Given the description of an element on the screen output the (x, y) to click on. 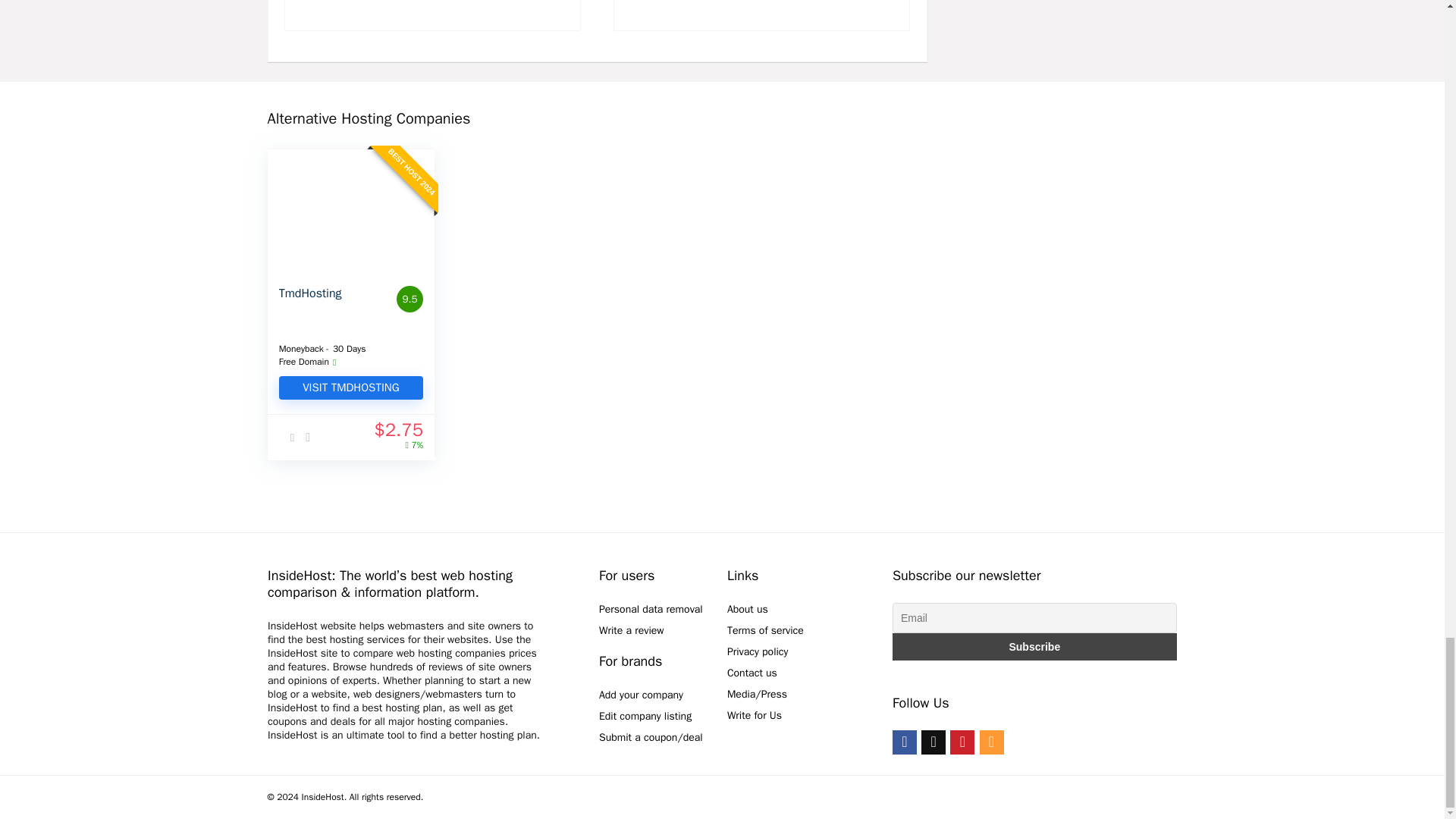
Subscribe (1034, 646)
